Given the description of an element on the screen output the (x, y) to click on. 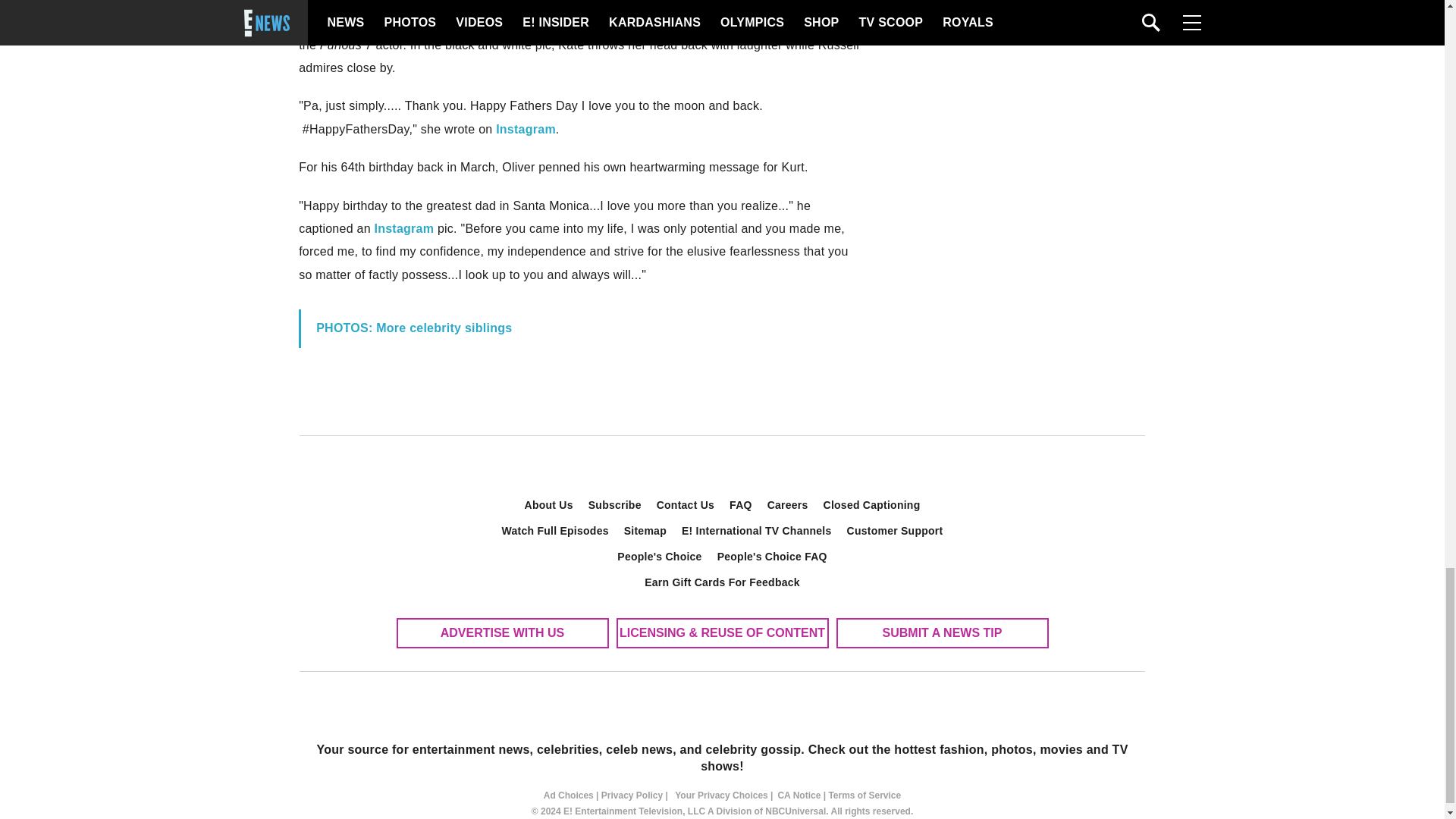
PHOTOS: More celebrity siblings (413, 327)
Instagram (403, 228)
Instagram (526, 128)
